Given the description of an element on the screen output the (x, y) to click on. 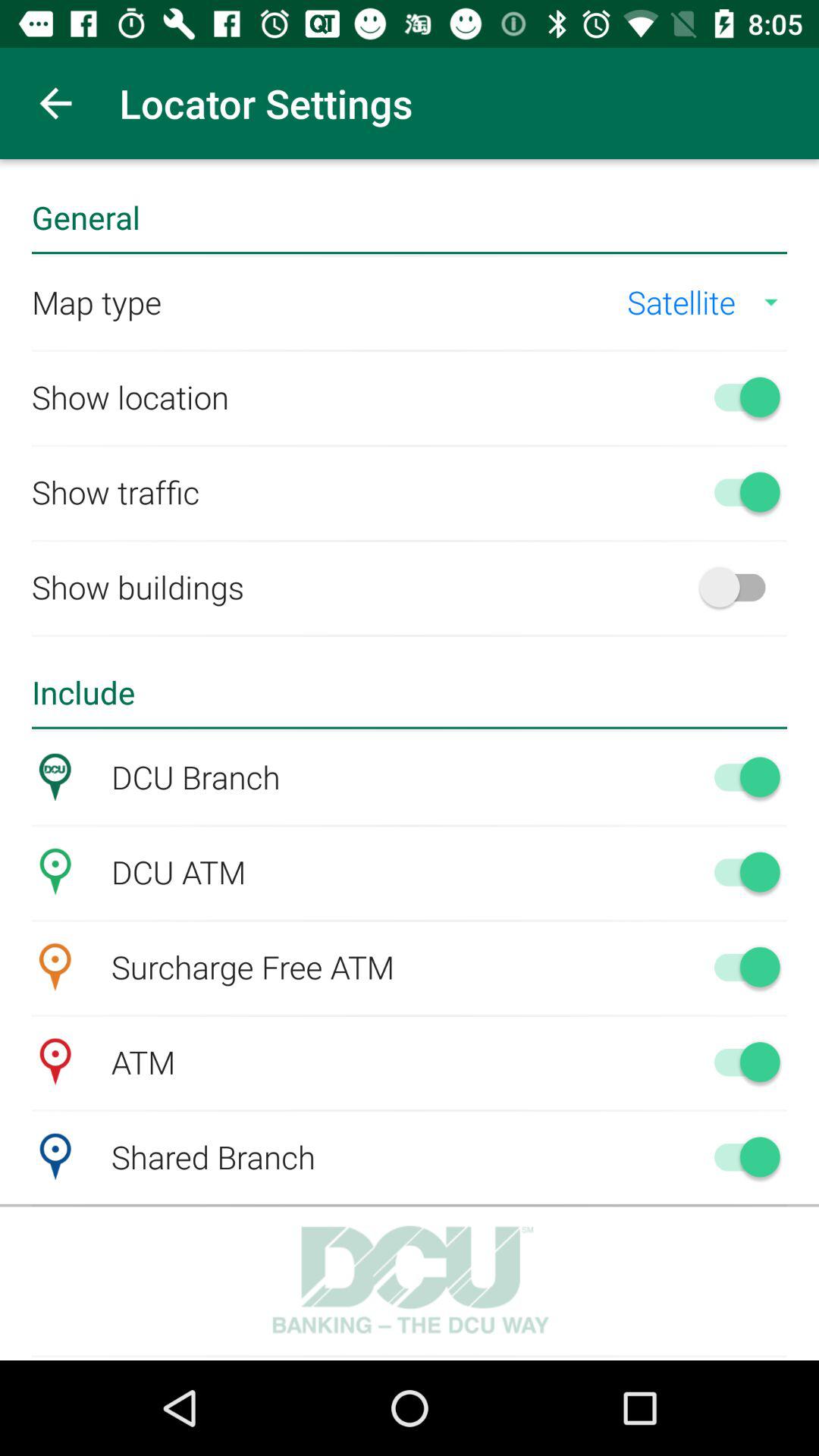
shared button option (739, 1156)
